Given the description of an element on the screen output the (x, y) to click on. 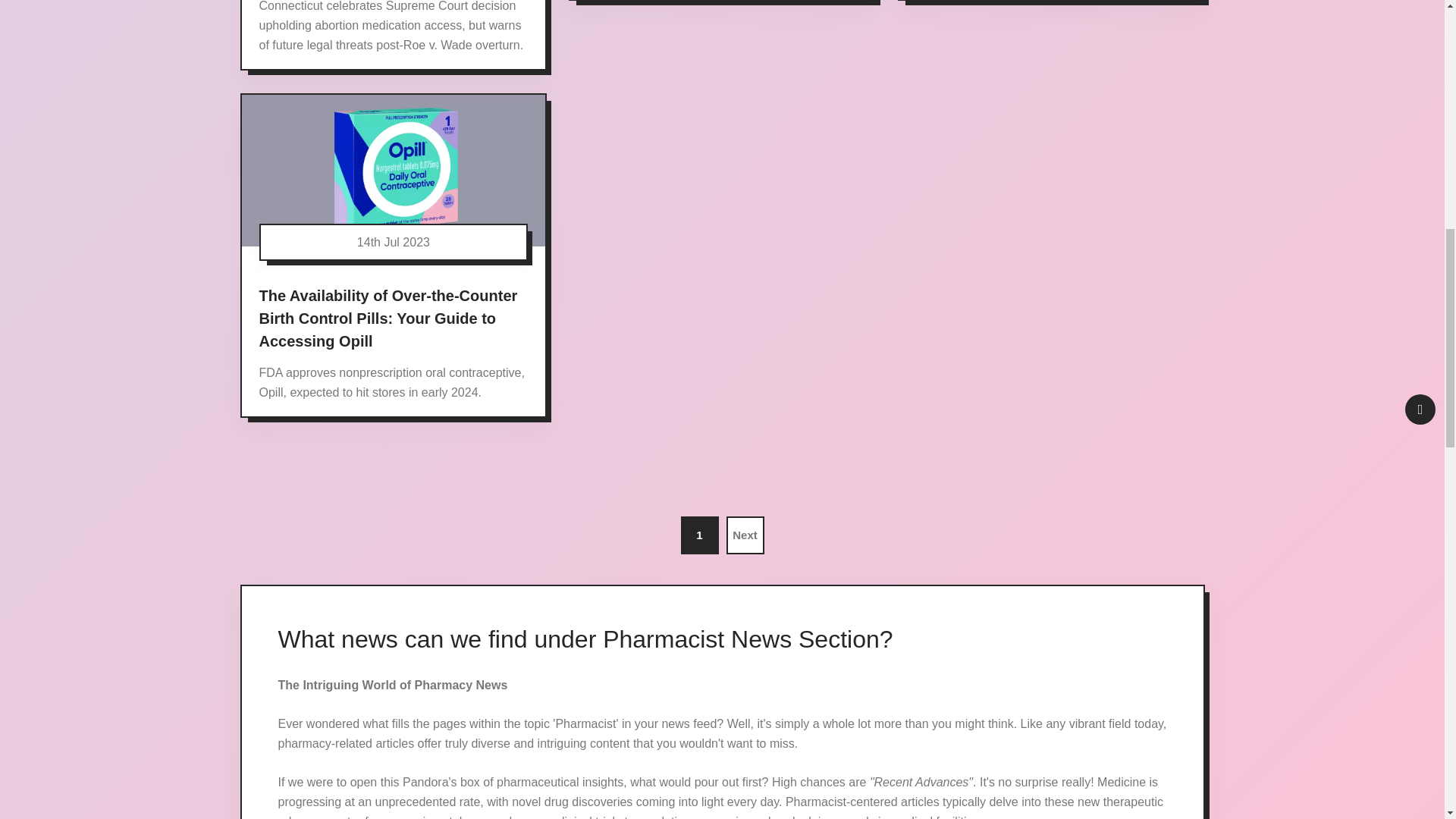
1 (700, 535)
Next (745, 535)
